Given the description of an element on the screen output the (x, y) to click on. 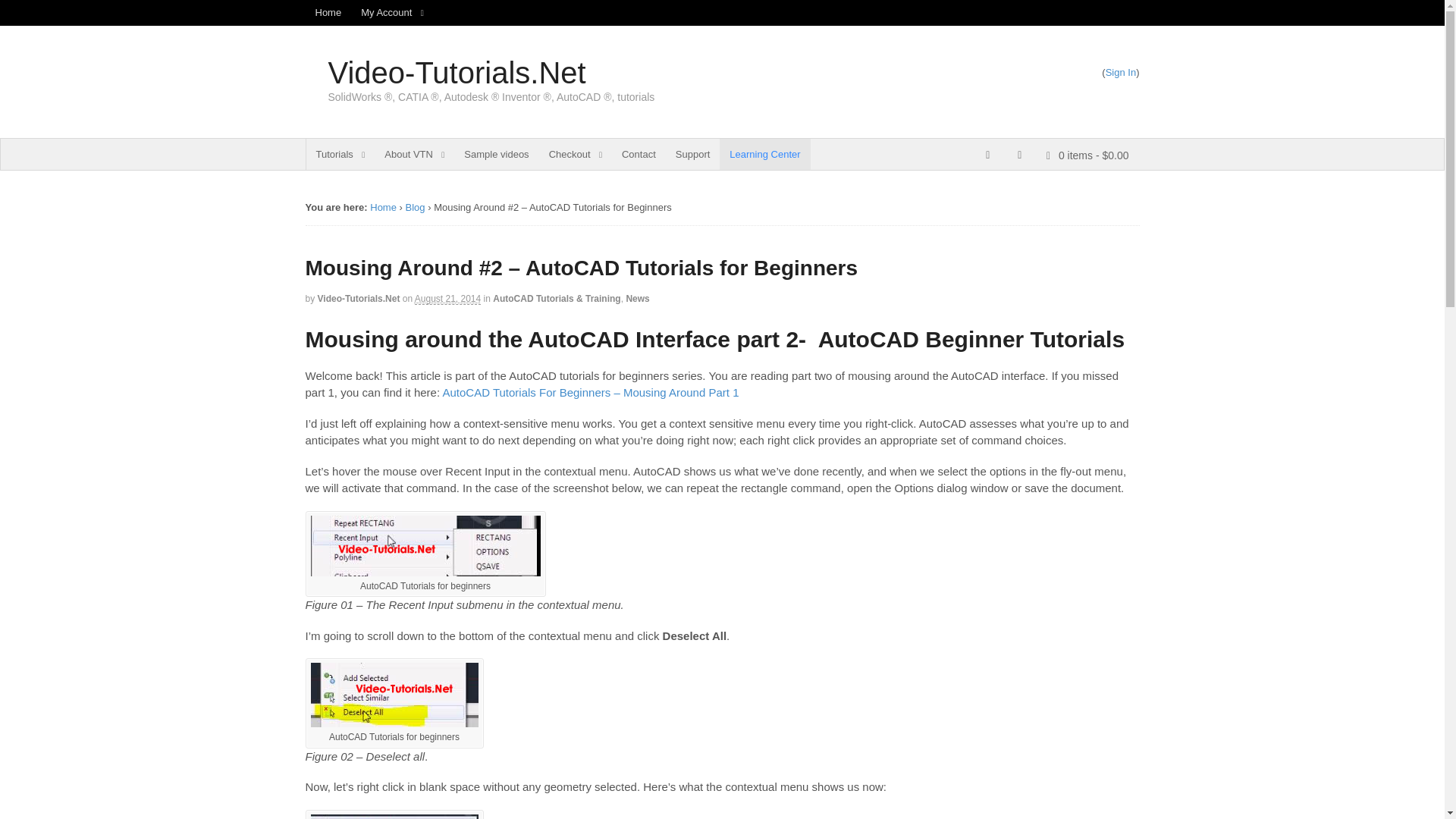
Contact (638, 154)
Tutorials (340, 154)
My Account (391, 12)
Blog (415, 206)
Learning Center (764, 154)
Sample videos (496, 154)
Blog (415, 206)
Video-Tutorials.Net (382, 206)
2014-08-21T15:51:14-0700 (447, 298)
Checkout (574, 154)
